Given the description of an element on the screen output the (x, y) to click on. 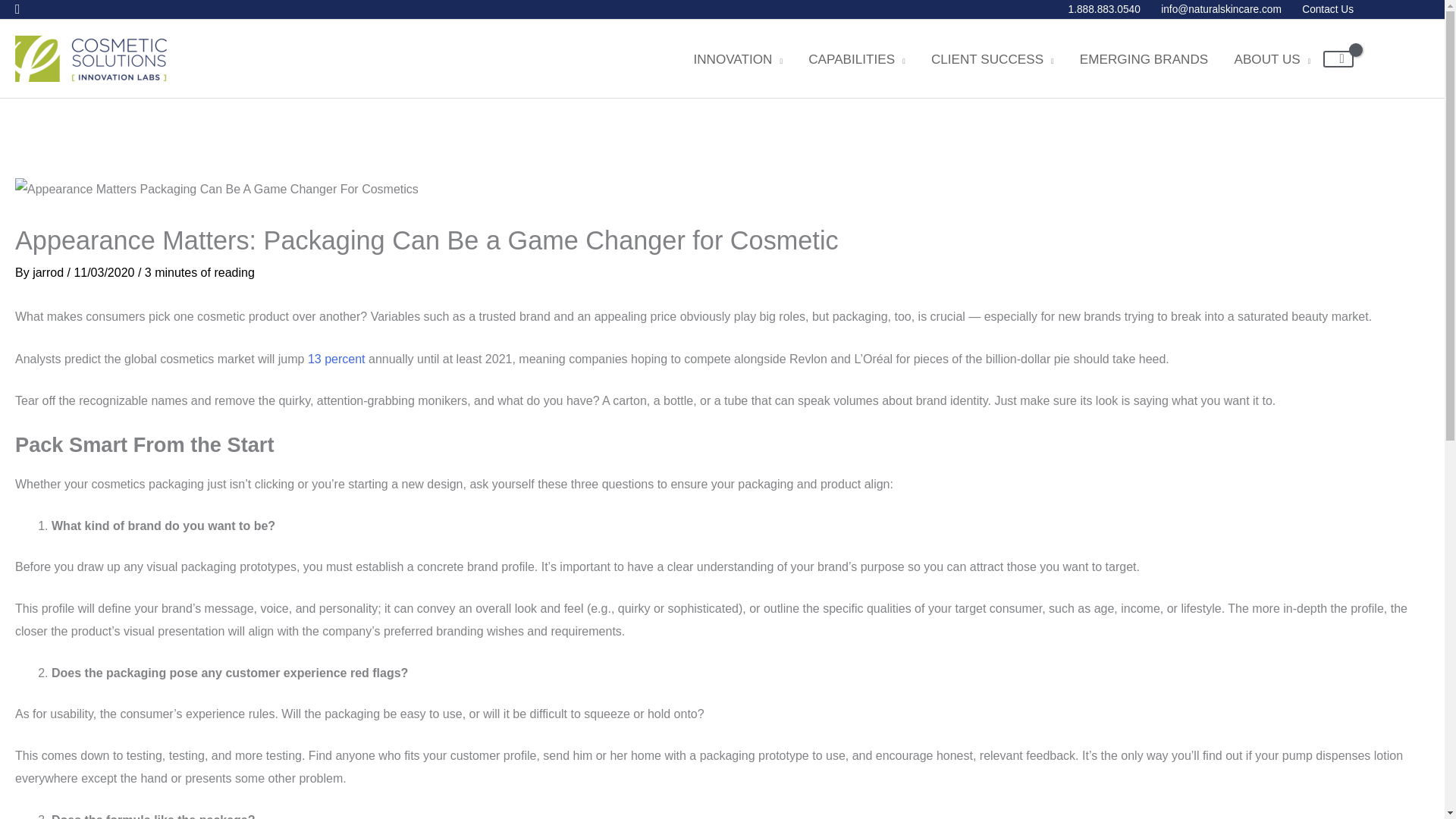
EMERGING BRANDS (1144, 59)
CLIENT SUCCESS (992, 59)
CAPABILITIES (856, 59)
Contact Us (1323, 9)
INNOVATION (736, 59)
View all posts by jarrod (49, 272)
ABOUT US (1272, 59)
1.888.883.0540 (1104, 9)
